Given the description of an element on the screen output the (x, y) to click on. 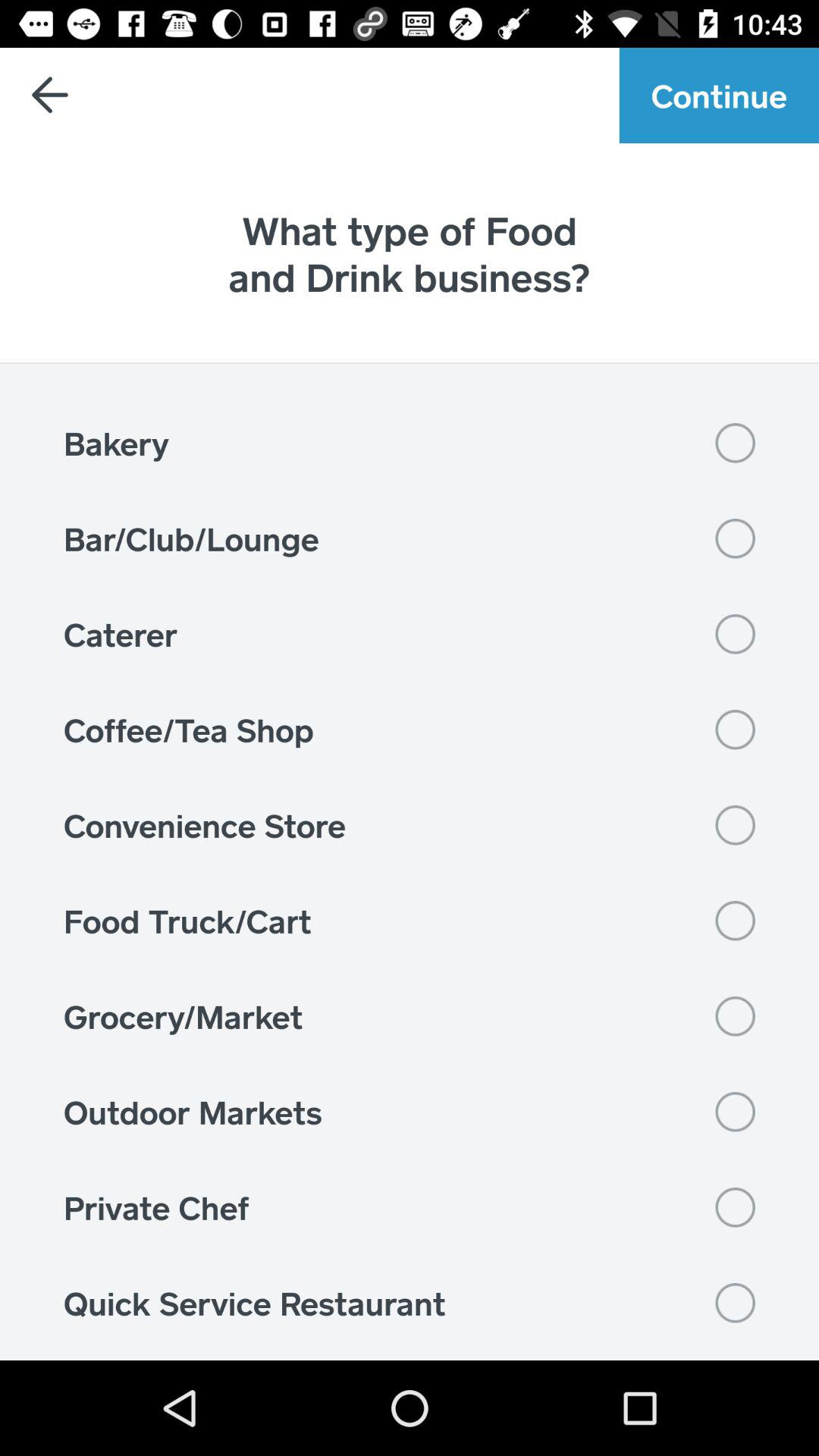
jump until the food truck/cart (409, 920)
